Given the description of an element on the screen output the (x, y) to click on. 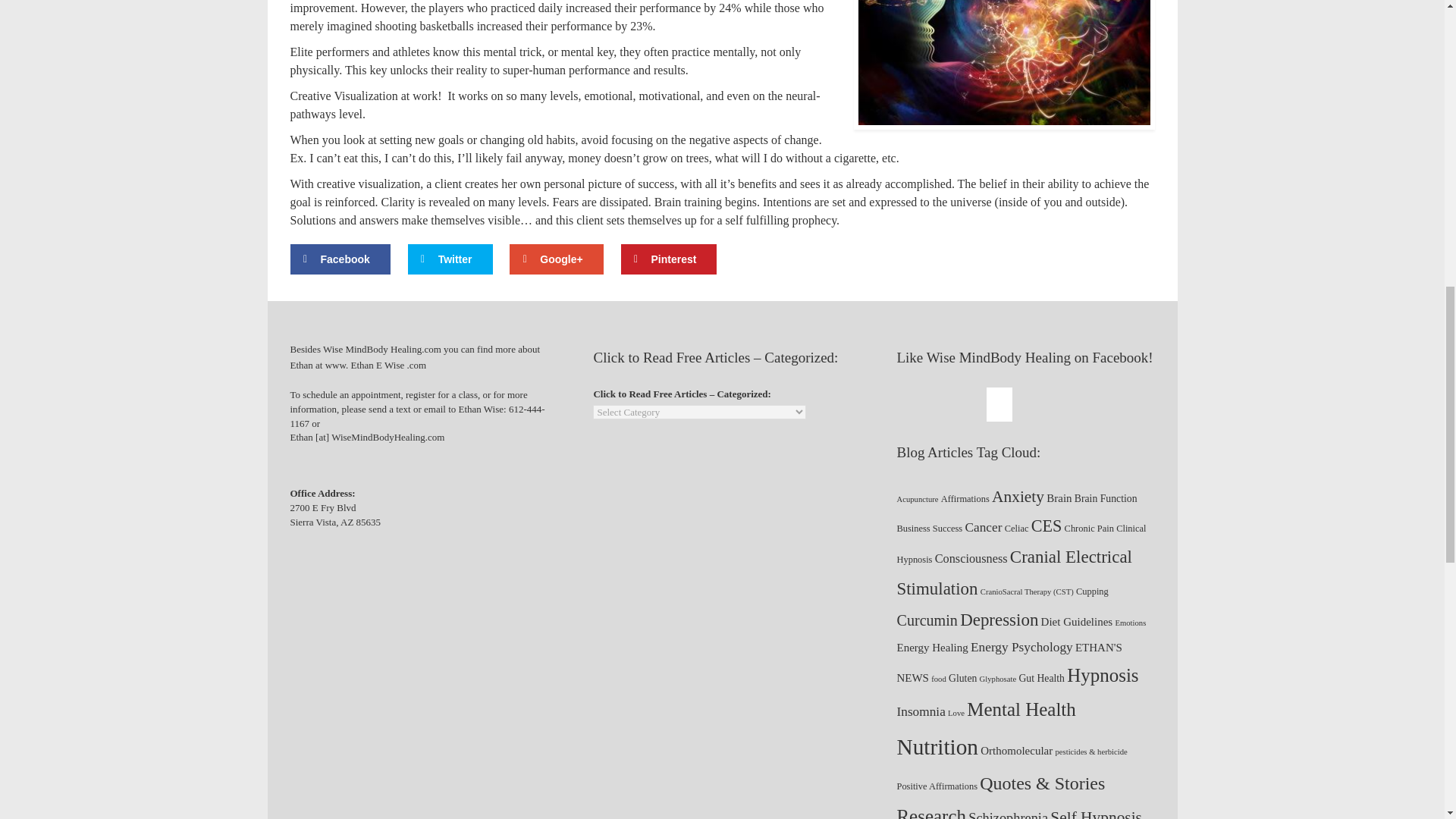
Celiac (1016, 528)
Cranial Electrical Stimulation (1014, 572)
Brain (1058, 497)
Energy Healing (932, 647)
ETHAN'S NEWS (1008, 662)
Depression (998, 619)
Emotions (1130, 622)
Clinical Hypnosis (1020, 543)
Facebook (339, 259)
Diet Guidelines (1077, 621)
